Given the description of an element on the screen output the (x, y) to click on. 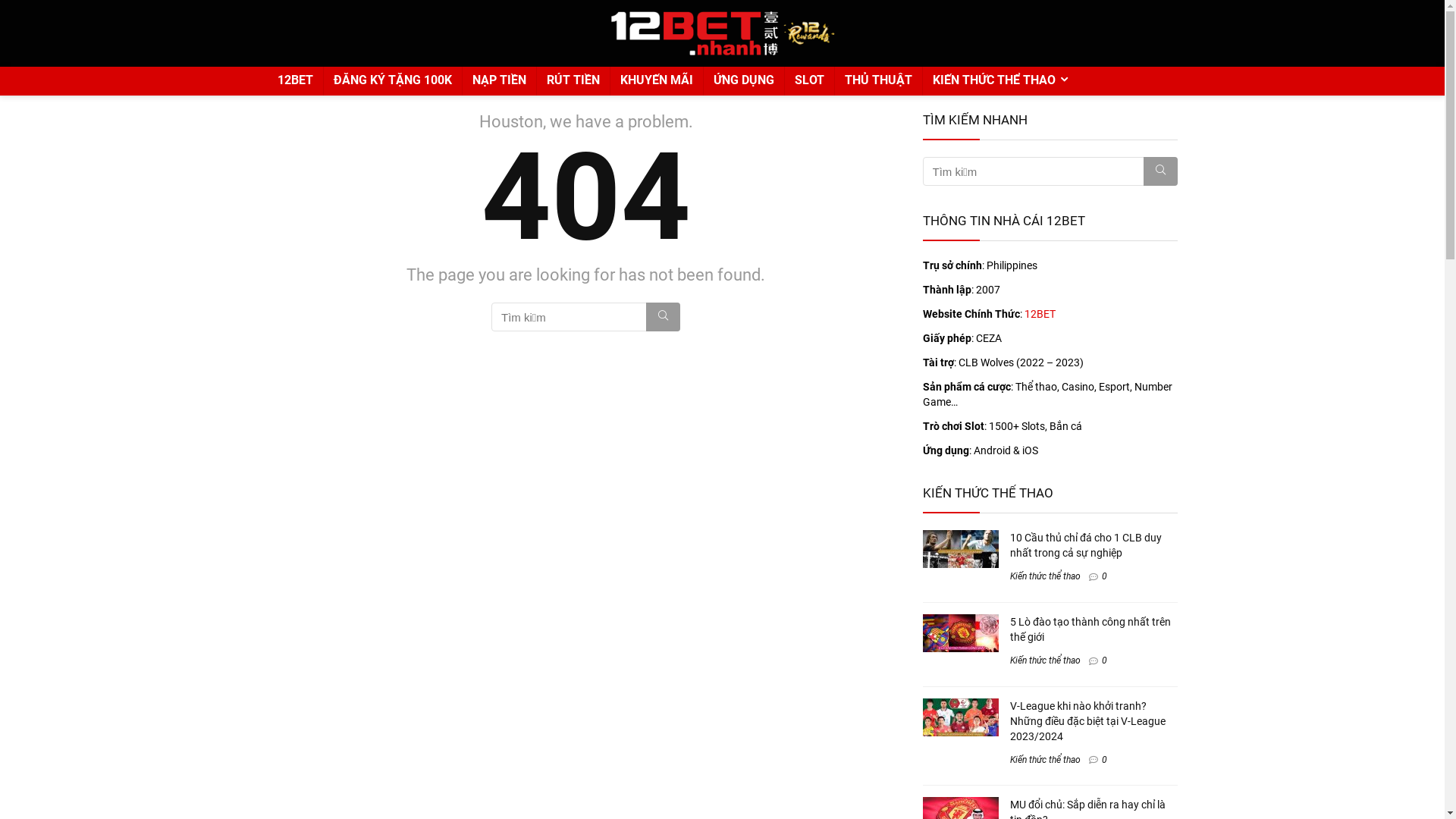
0 Element type: text (1103, 576)
SLOT Element type: text (808, 80)
12BET Element type: text (294, 80)
12BET Element type: text (1038, 313)
0 Element type: text (1103, 759)
0 Element type: text (1103, 660)
